Given the description of an element on the screen output the (x, y) to click on. 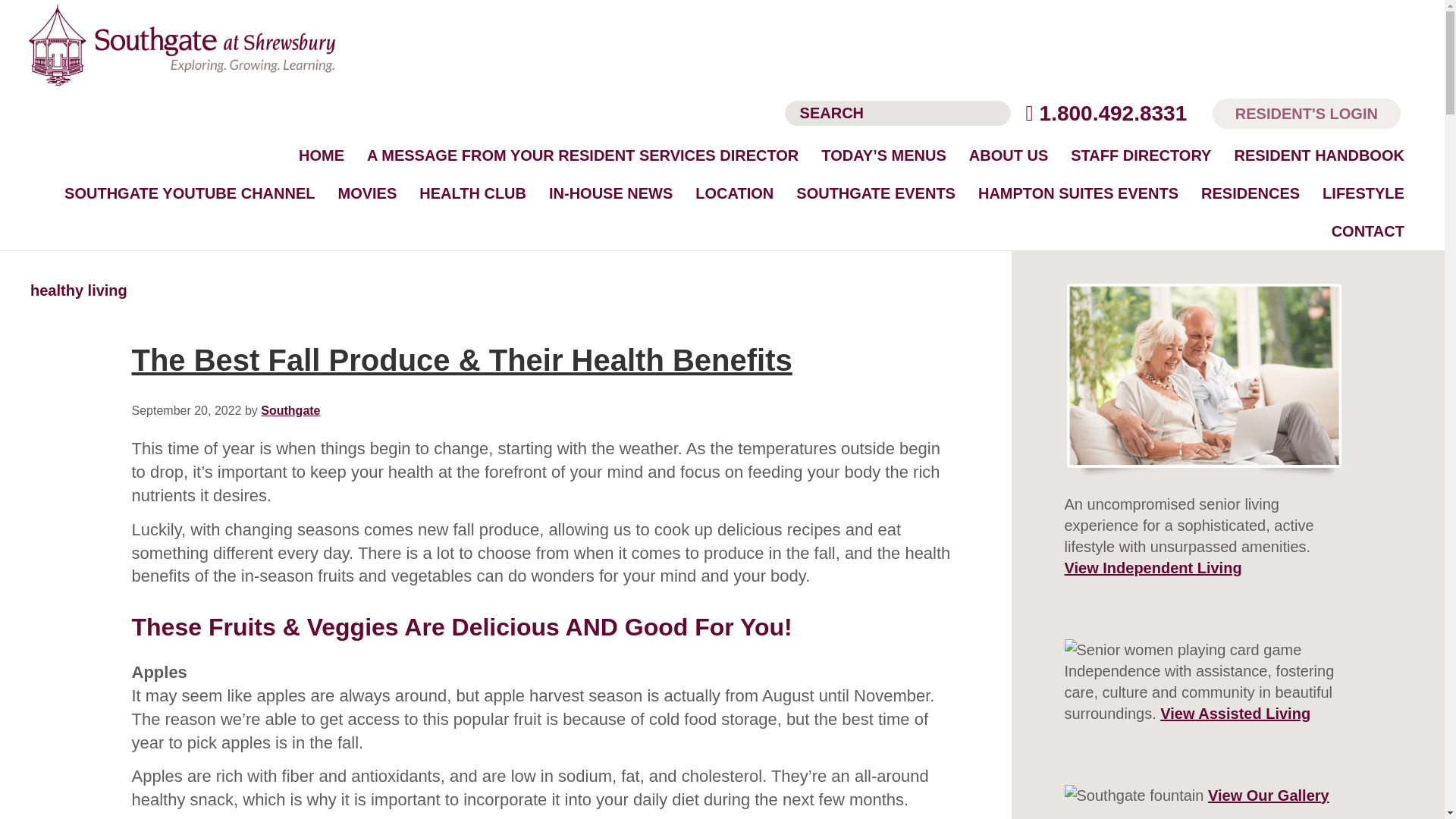
MOVIES (366, 193)
A MESSAGE FROM YOUR RESIDENT SERVICES DIRECTOR (582, 155)
ABOUT US (1008, 155)
SOUTHGATE EVENTS (875, 193)
STAFF DIRECTORY (1141, 155)
RESIDENCES (1250, 193)
IN-HOUSE NEWS (610, 193)
SOUTHGATE YOUTUBE CHANNEL (189, 193)
HEALTH CLUB (472, 193)
RESIDENT'S LOGIN (1306, 113)
1.800.492.8331 (1107, 113)
